Given the description of an element on the screen output the (x, y) to click on. 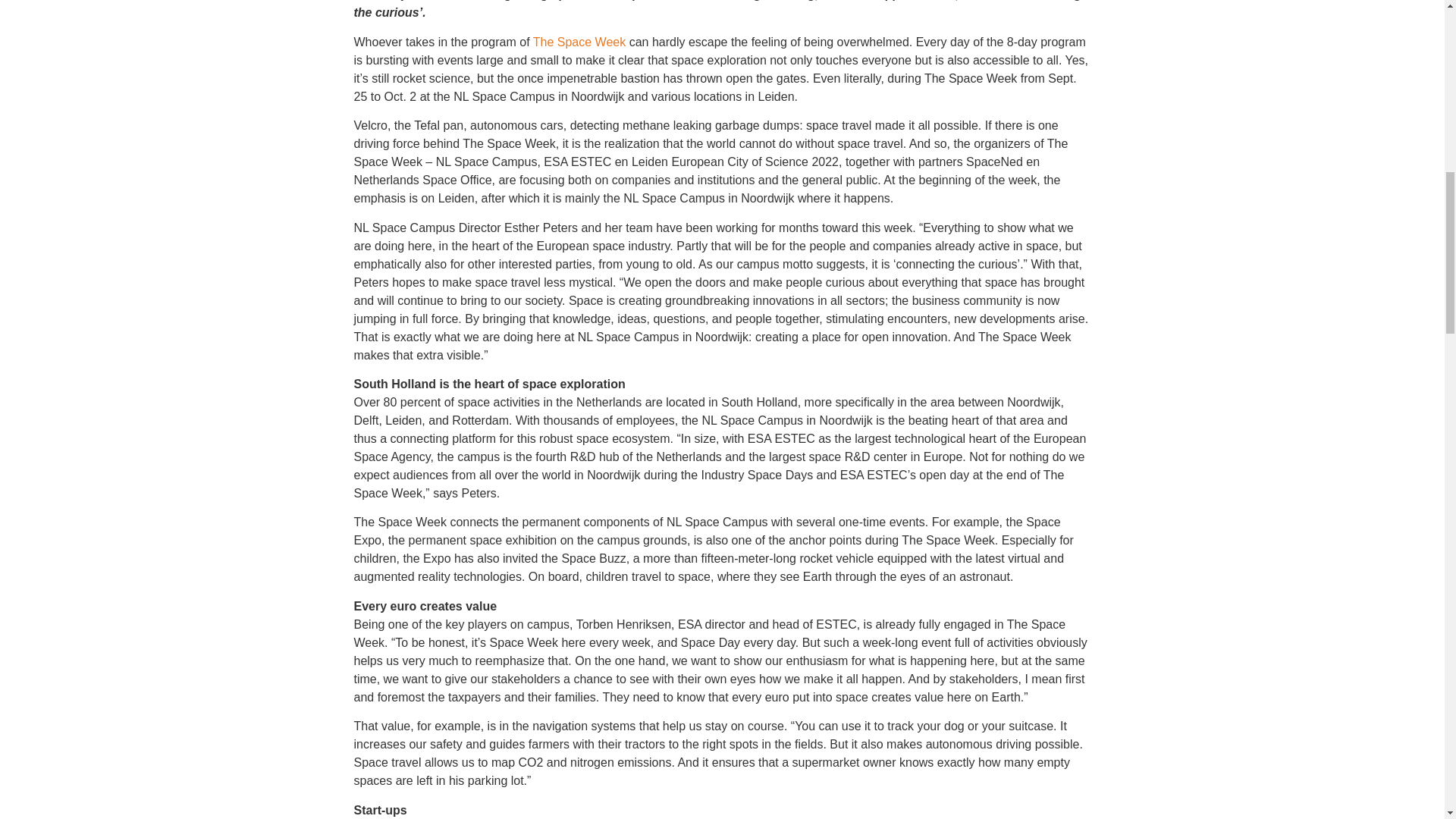
The Space Week (579, 42)
